Given the description of an element on the screen output the (x, y) to click on. 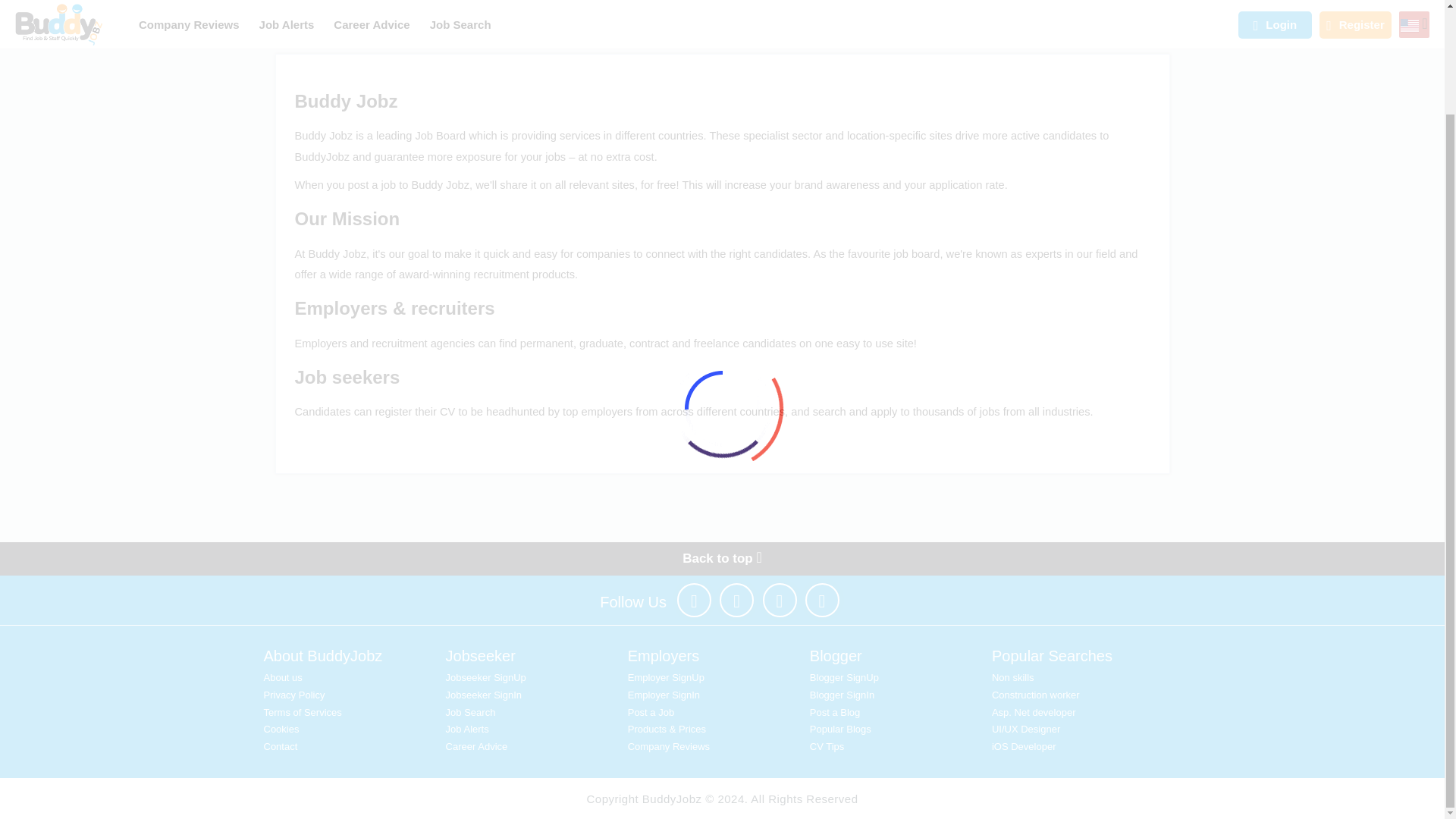
Career Advice (476, 746)
Employer SignIn (663, 695)
Blogger SignUp (844, 677)
Terms of Services (302, 712)
Blogger SignIn (842, 695)
Cookies (281, 728)
Privacy Policy (293, 695)
Job Alerts (467, 728)
About Us (282, 677)
Post a Blog (834, 712)
